Given the description of an element on the screen output the (x, y) to click on. 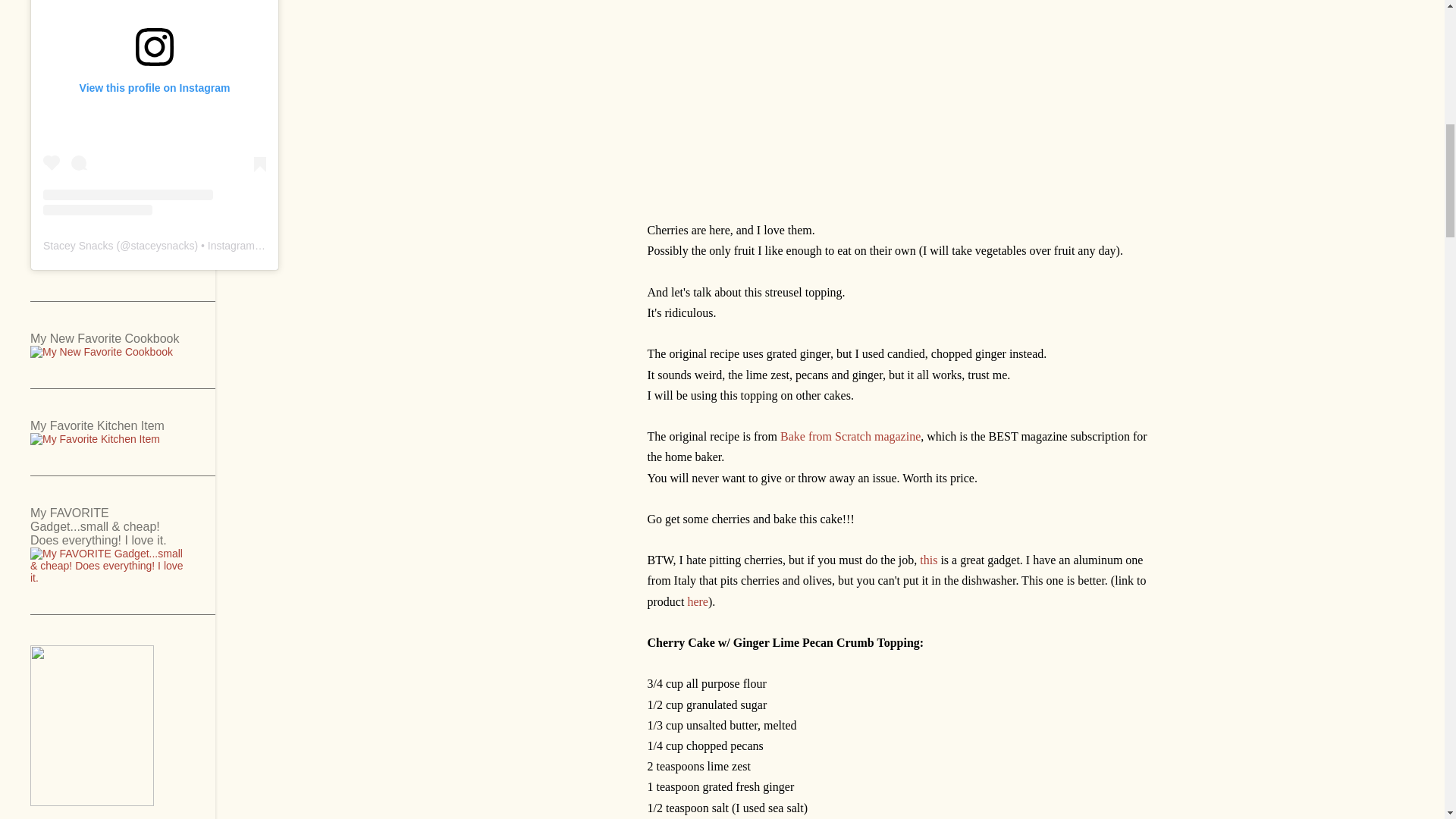
Bake from Scratch magazine (850, 436)
this (928, 559)
here (697, 601)
